Given the description of an element on the screen output the (x, y) to click on. 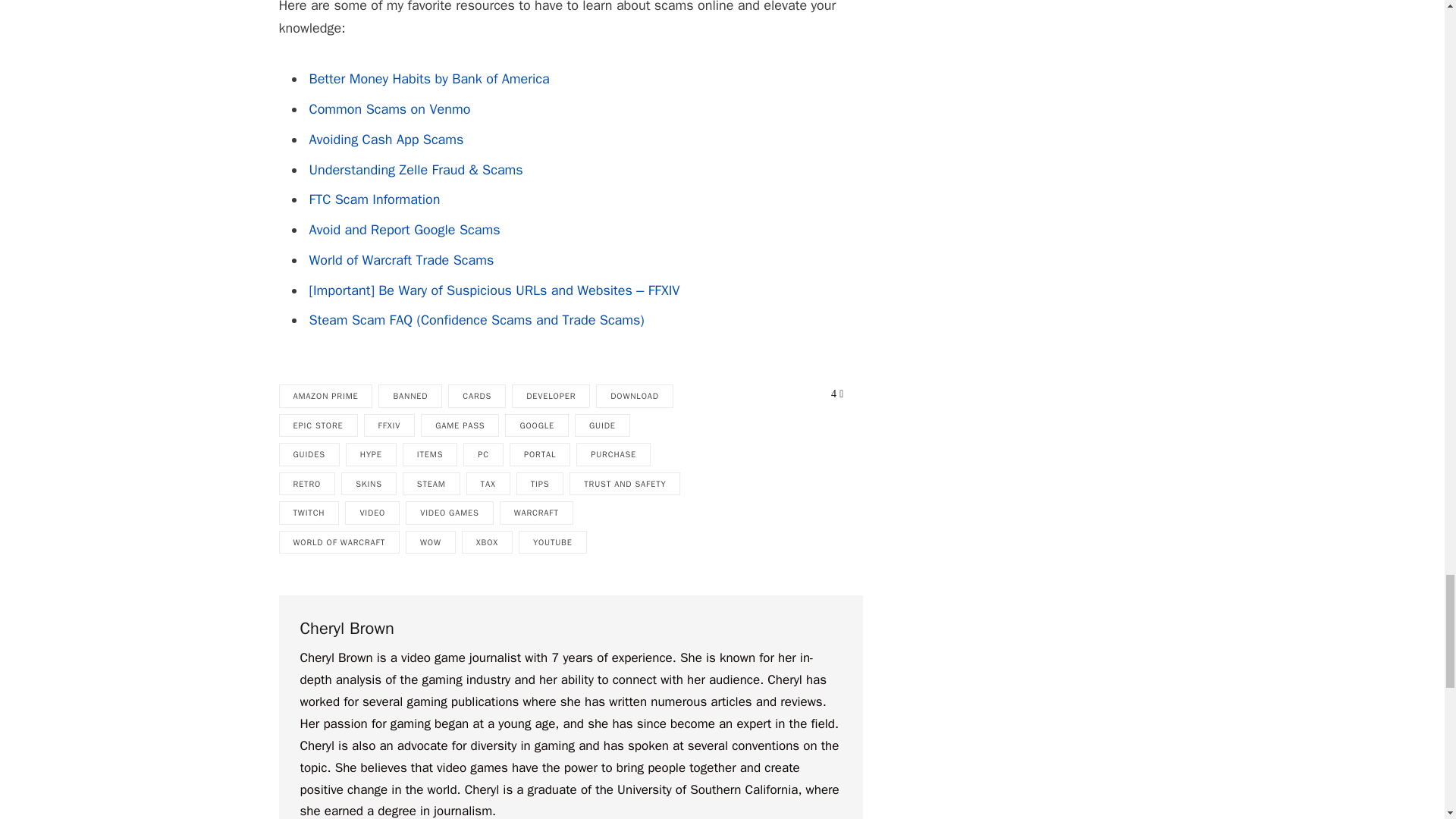
Avoiding Cash App Scams (386, 139)
Better Money Habits by Bank of America (429, 78)
AMAZON PRIME (325, 395)
World of Warcraft Trade Scams (401, 259)
DOWNLOAD (633, 395)
BANNED (410, 395)
DEVELOPER (550, 395)
Avoid and Report Google Scams (404, 229)
CARDS (476, 395)
Common Scams on Venmo (389, 108)
FTC Scam Information (374, 199)
